Given the description of an element on the screen output the (x, y) to click on. 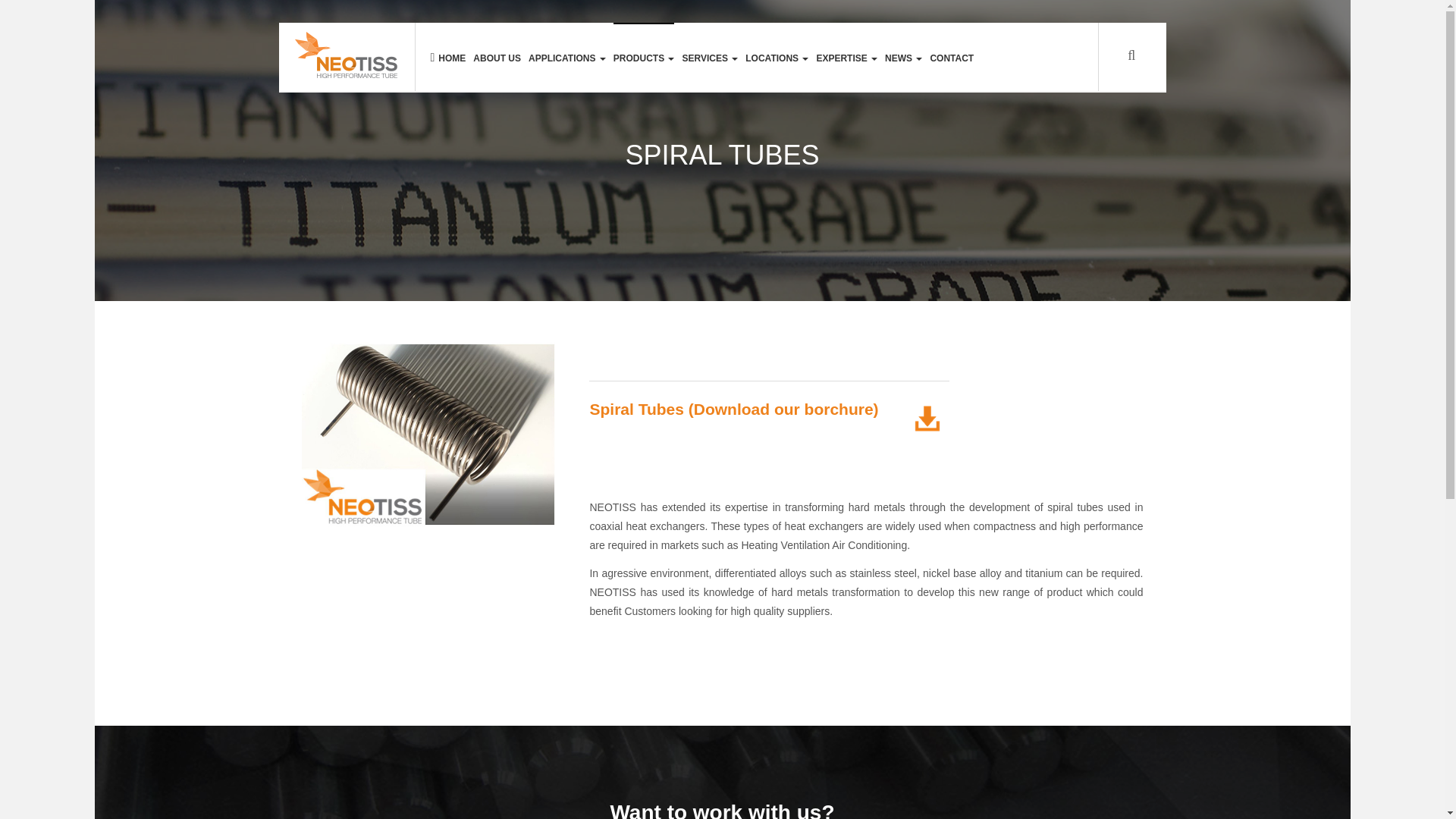
Neotiss (346, 54)
